Given the description of an element on the screen output the (x, y) to click on. 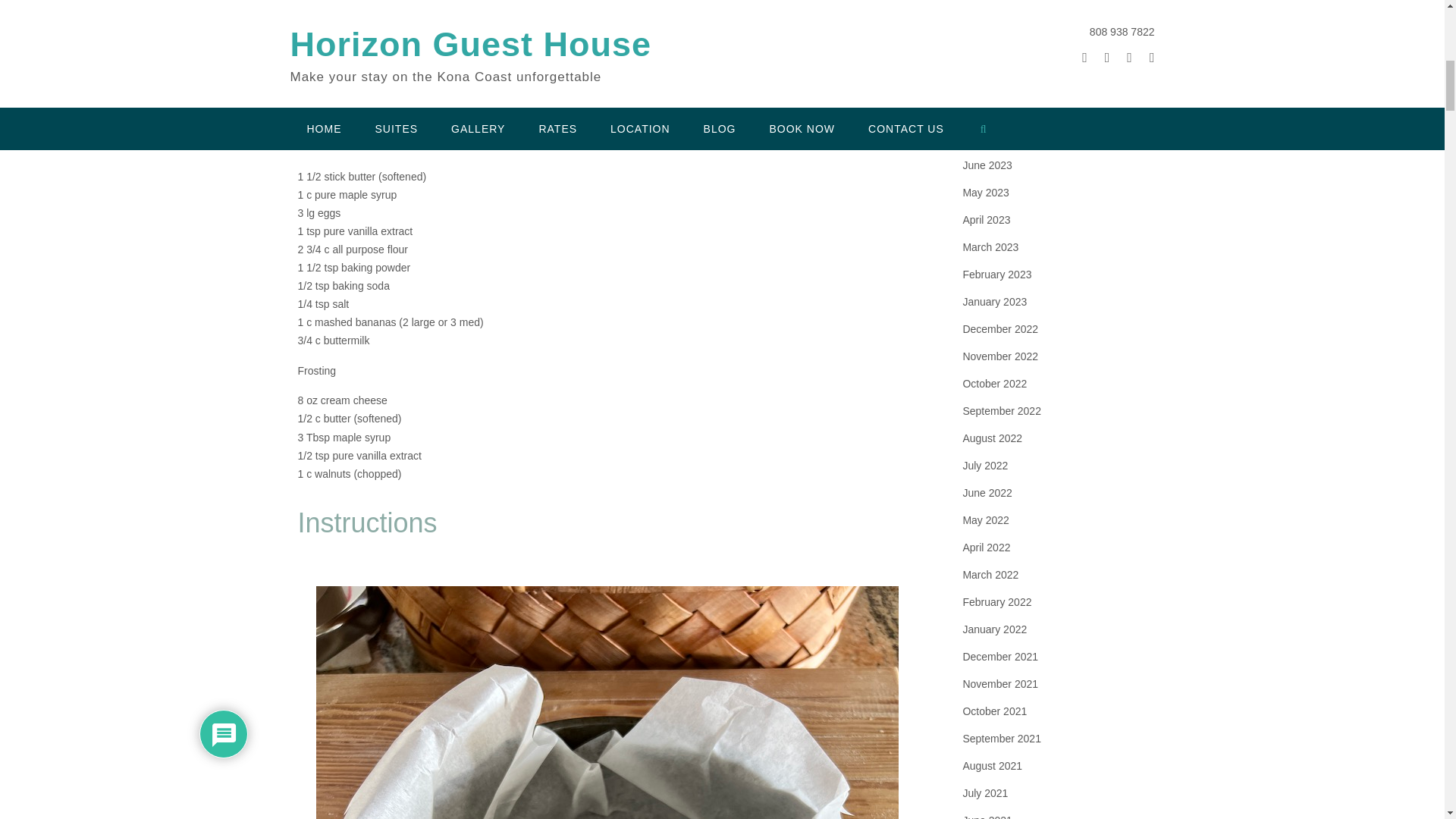
Get the recipe (607, 33)
